Given the description of an element on the screen output the (x, y) to click on. 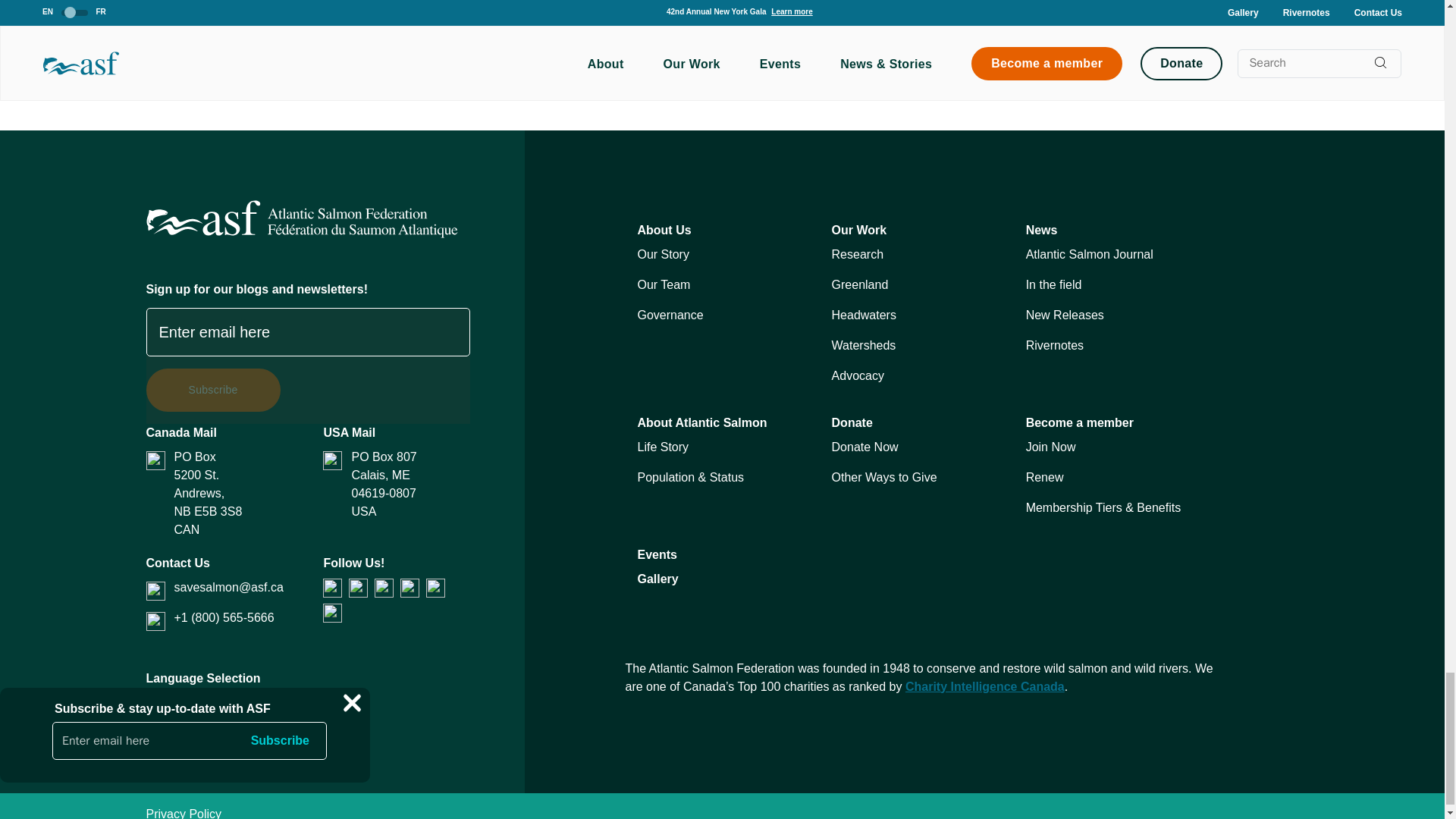
PO Box 807 Calais, ME 04619-0807 USA (410, 483)
Subscribe (212, 389)
Subscribe (212, 389)
PO Box 5200 St. Andrews, NB E5B 3S8 CAN (234, 492)
